Given the description of an element on the screen output the (x, y) to click on. 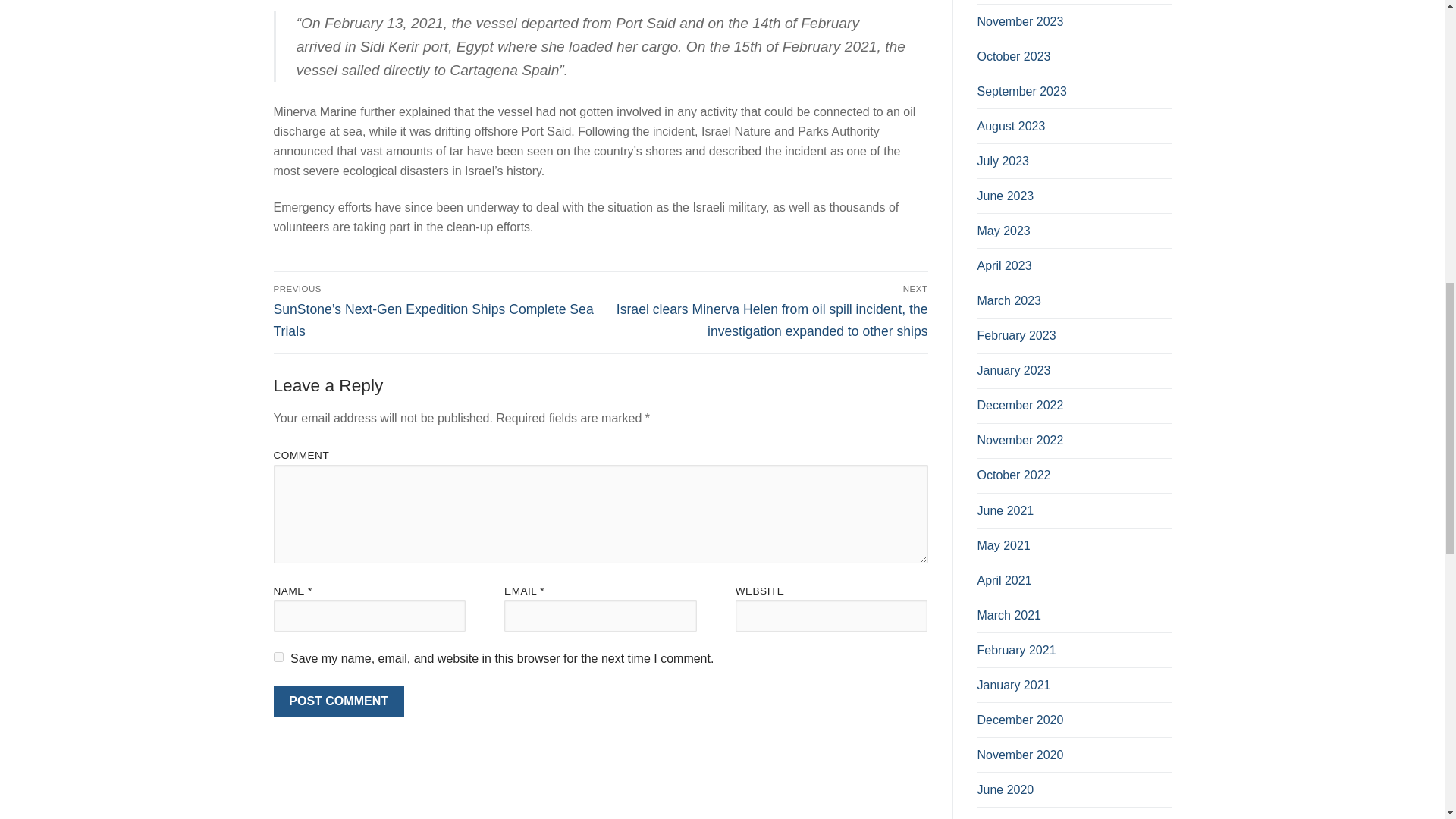
Post Comment (338, 701)
Post Comment (338, 701)
yes (277, 656)
